Given the description of an element on the screen output the (x, y) to click on. 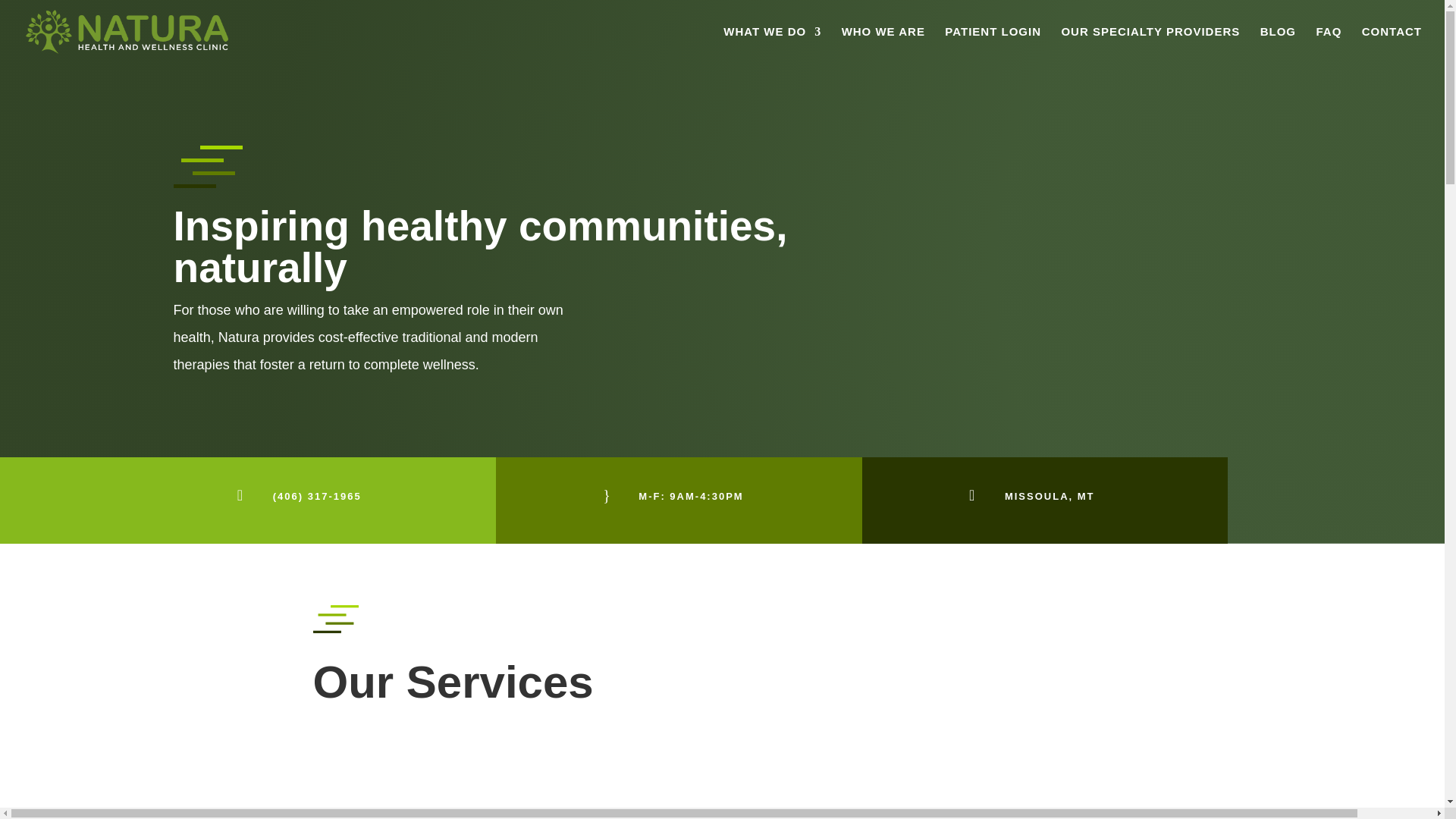
WHO WE ARE (882, 44)
FAQ (1328, 44)
OUR SPECIALTY PROVIDERS (1150, 44)
MISSOULA, MT (1049, 496)
PATIENT LOGIN (992, 44)
M-F: 9AM-4:30PM (690, 496)
CONTACT (1391, 44)
BLOG (1277, 44)
WHAT WE DO (772, 44)
